Given the description of an element on the screen output the (x, y) to click on. 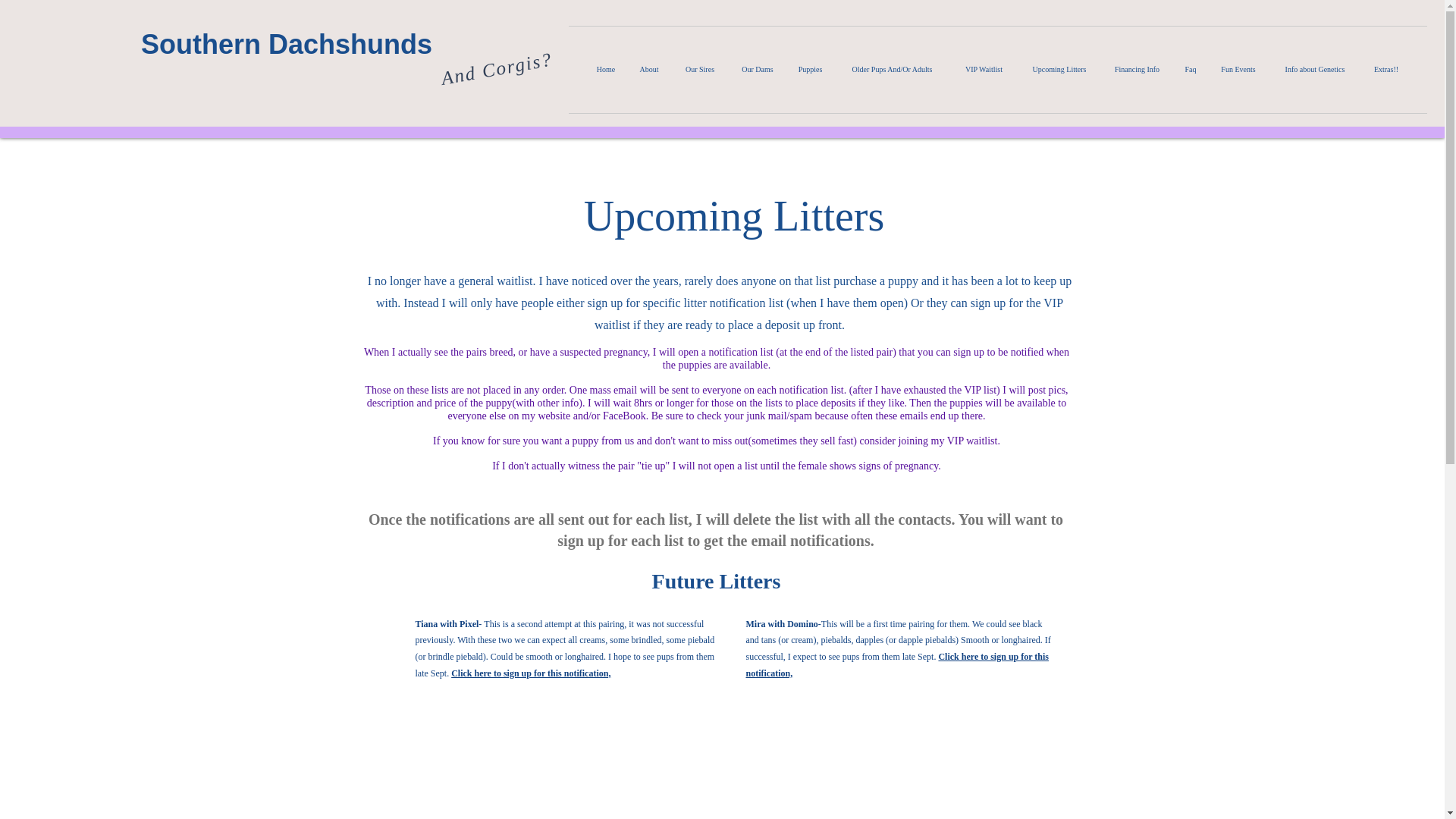
Upcoming Litters (1058, 69)
Click here to sign up for this notification, (530, 673)
Southern Dachshunds (286, 43)
Info about Genetics (1314, 69)
Click here to sign up for this notification, (897, 664)
